Given the description of an element on the screen output the (x, y) to click on. 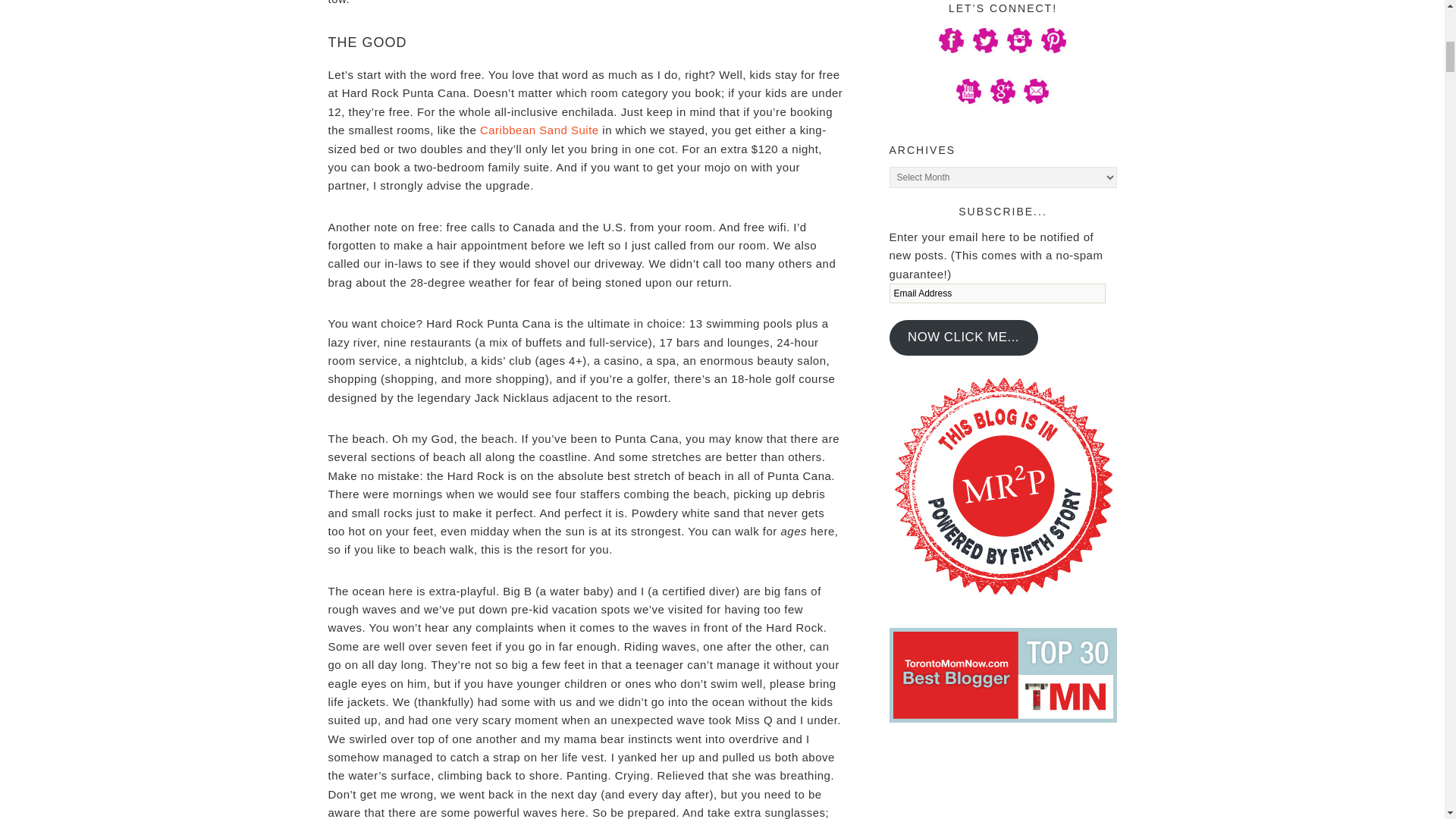
Caribbean Sand Suite (539, 129)
